Given the description of an element on the screen output the (x, y) to click on. 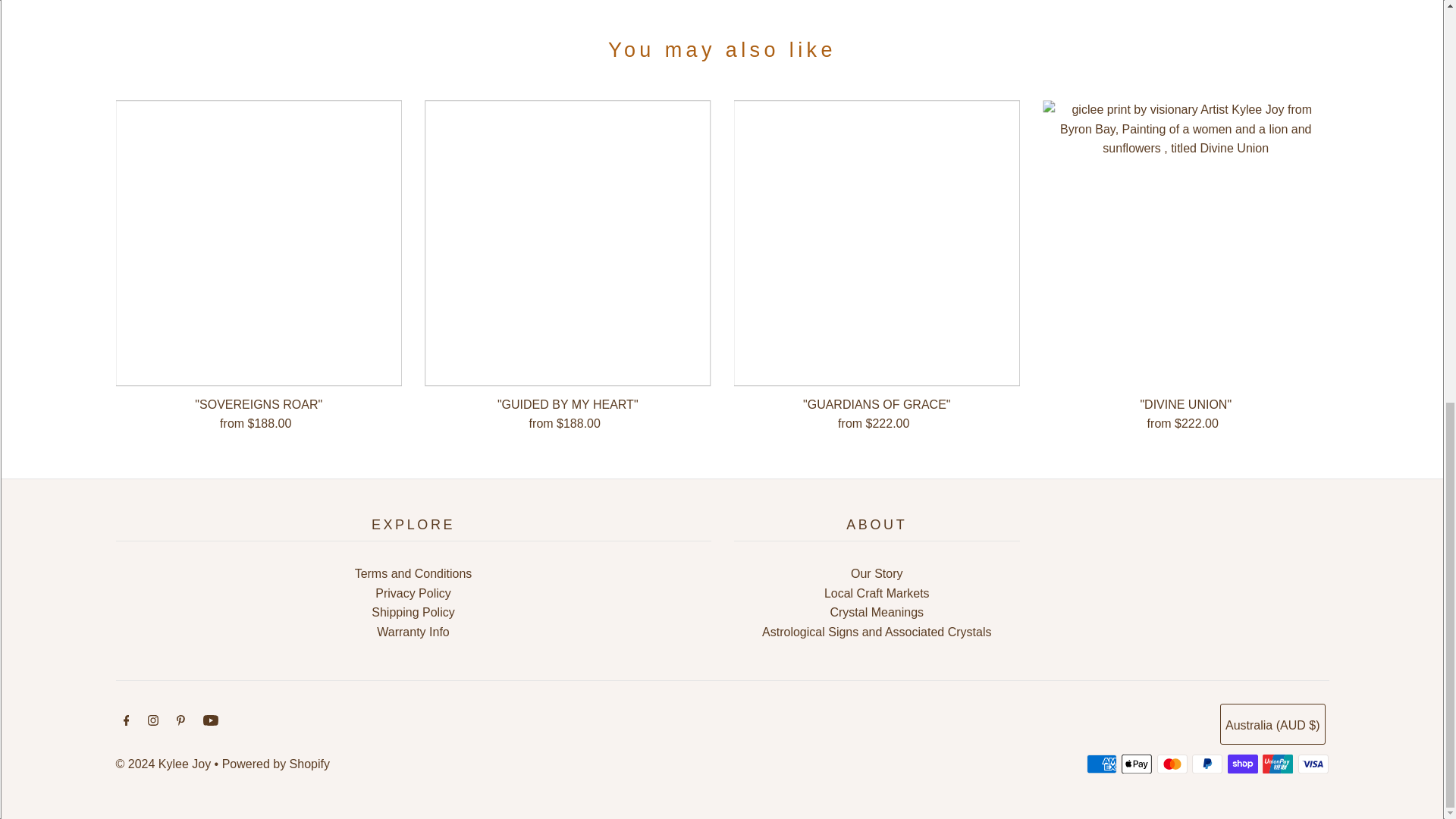
"SOVEREIGNS ROAR" (258, 242)
